Given the description of an element on the screen output the (x, y) to click on. 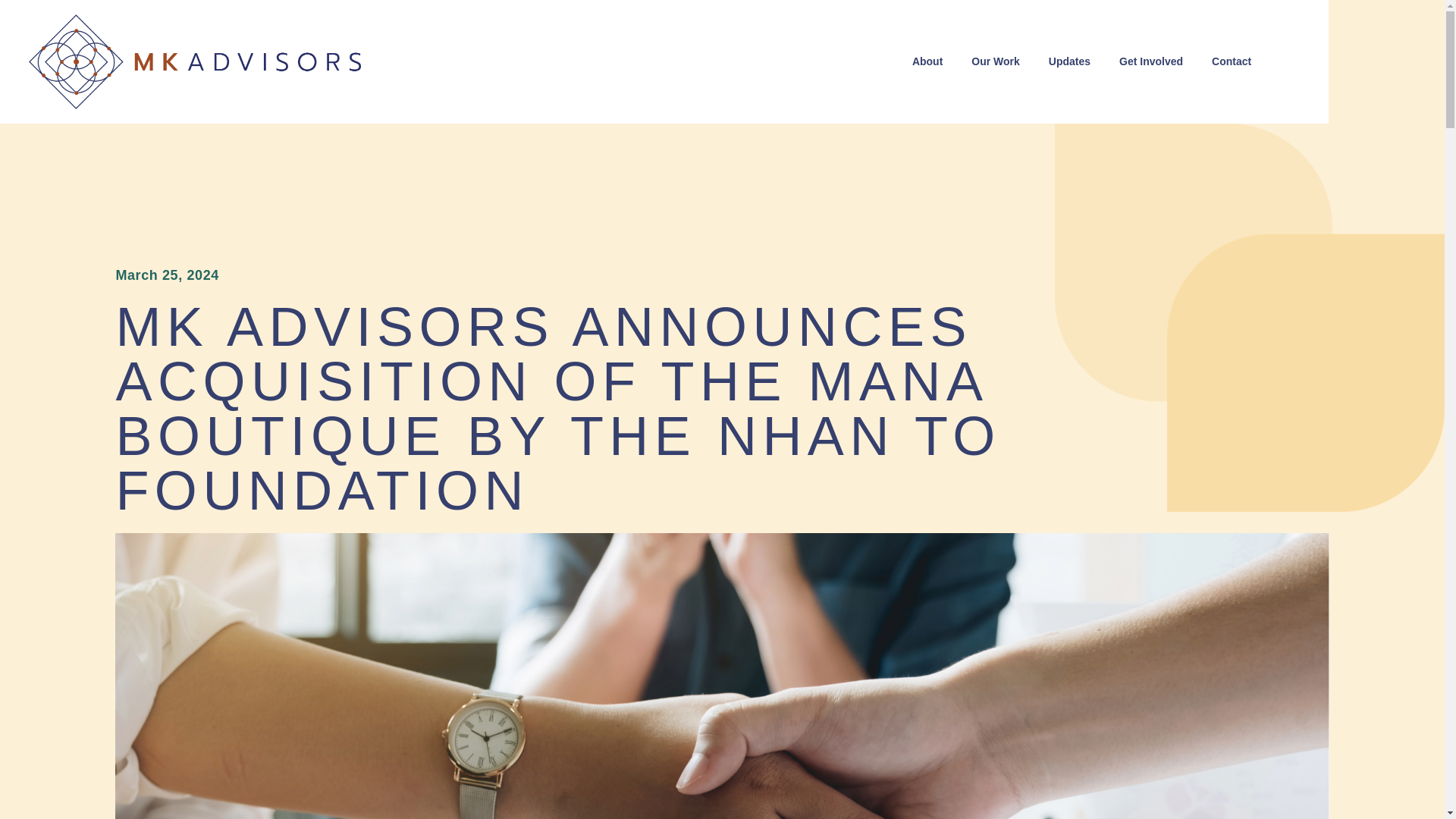
Our Work (995, 60)
Updates (1069, 60)
Contact (1230, 60)
About (927, 60)
Get Involved (1150, 60)
